Given the description of an element on the screen output the (x, y) to click on. 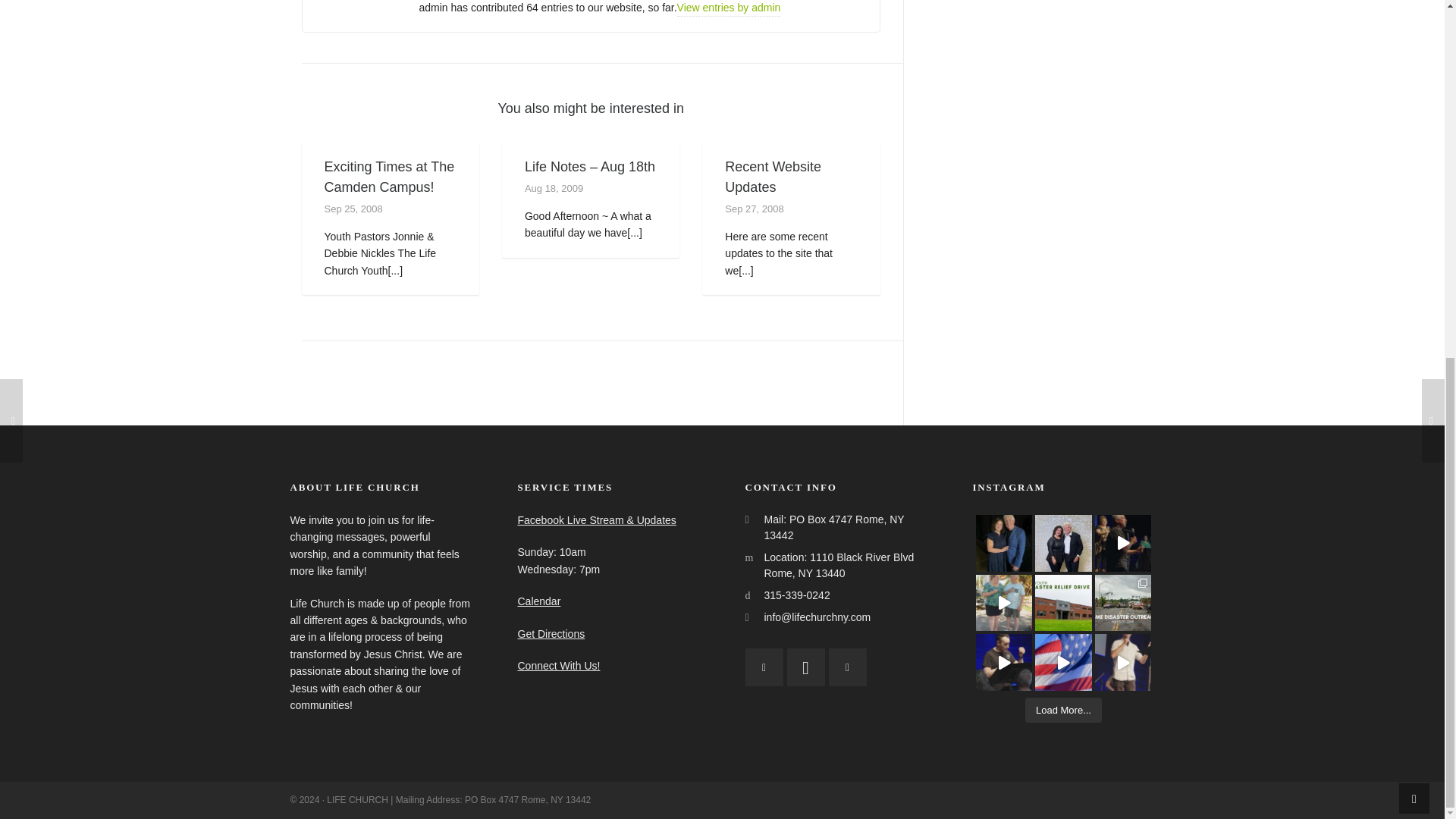
Recent Website Updates (773, 176)
Exciting Times at The Camden Campus! (389, 176)
Get Directions (550, 633)
Calendar (538, 601)
View entries by admin (728, 8)
Connect With Us! (557, 665)
